Given the description of an element on the screen output the (x, y) to click on. 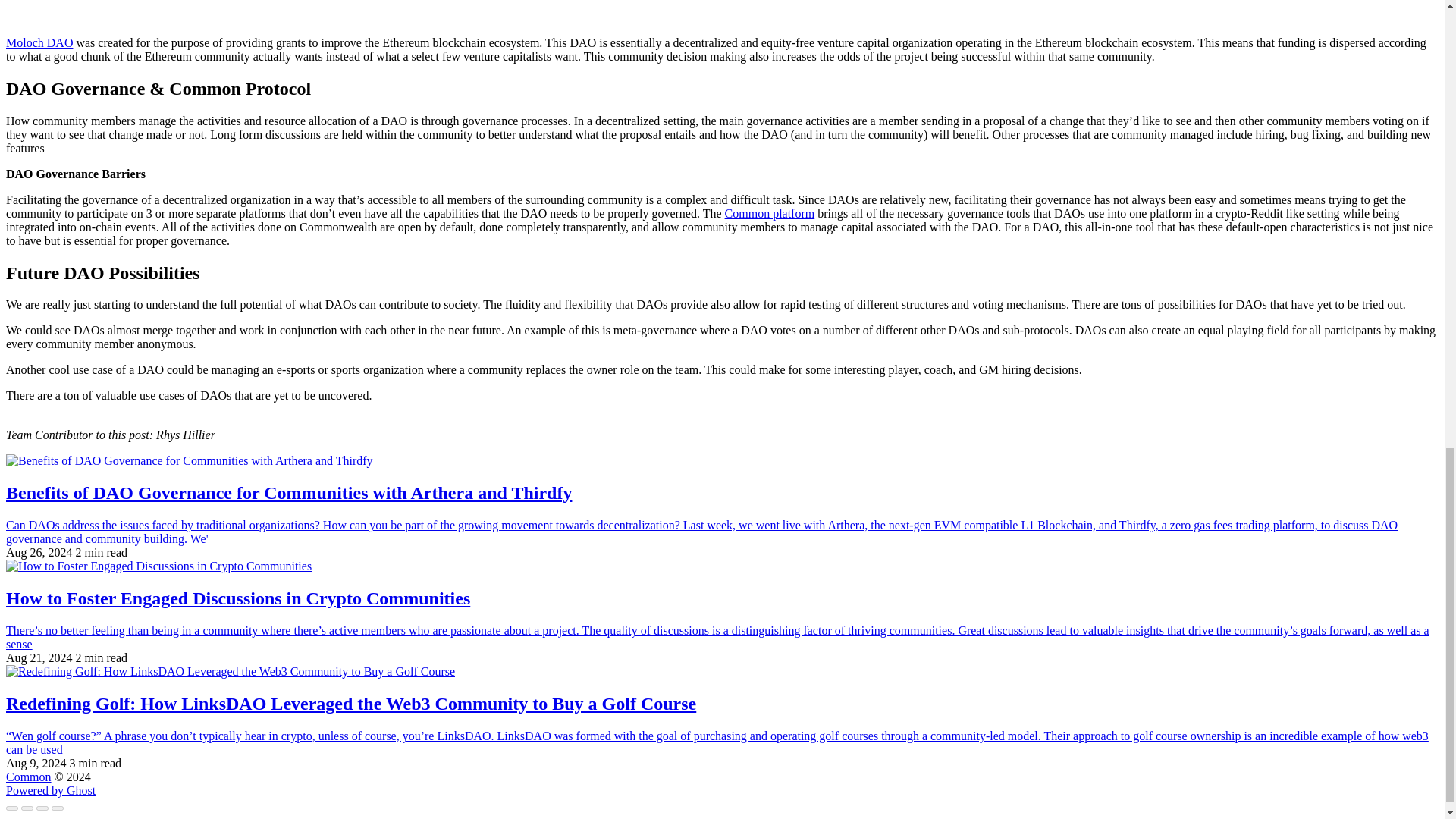
Share (27, 807)
Common platform (770, 213)
Powered by Ghost (50, 789)
Toggle fullscreen (42, 807)
Common (27, 776)
Moloch DAO (38, 42)
